Given the description of an element on the screen output the (x, y) to click on. 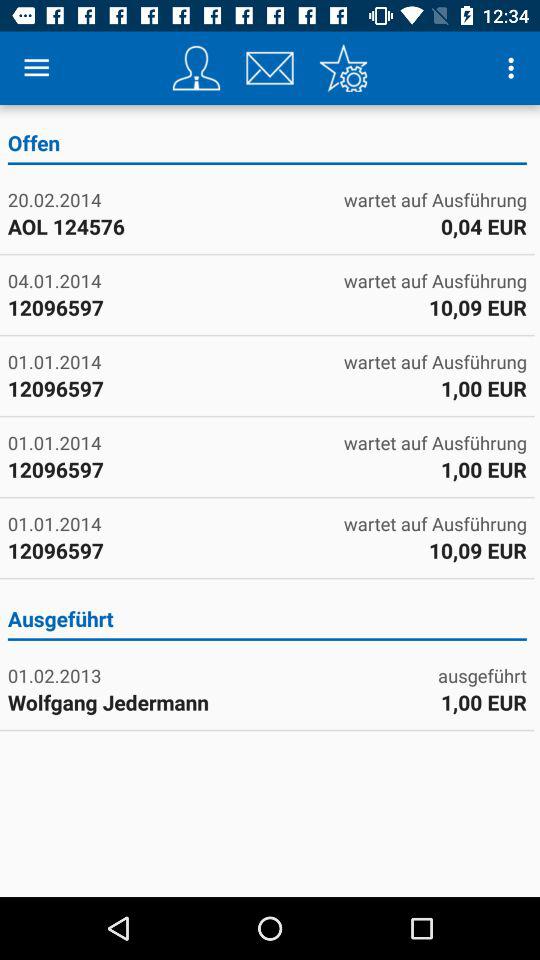
launch the item above 1,00 eur (481, 675)
